Given the description of an element on the screen output the (x, y) to click on. 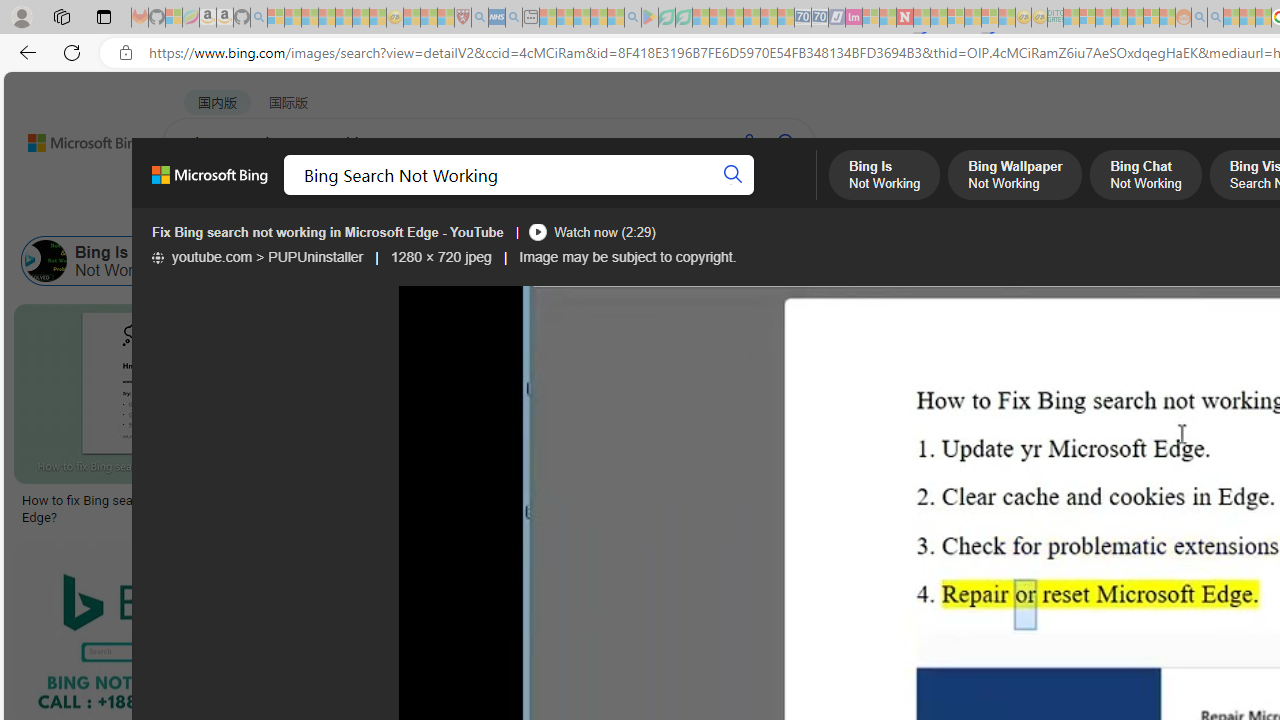
Kinda Frugal - MSN - Sleeping (1135, 17)
Bing Visual Search Not Working (670, 260)
Bing Is Not Working (45, 260)
Search using voice (748, 142)
Image result for Bing Search Not Working (821, 393)
Jobs - lastminute.com Investor Portal - Sleeping (853, 17)
Remove Bing Search (868, 260)
